Given the description of an element on the screen output the (x, y) to click on. 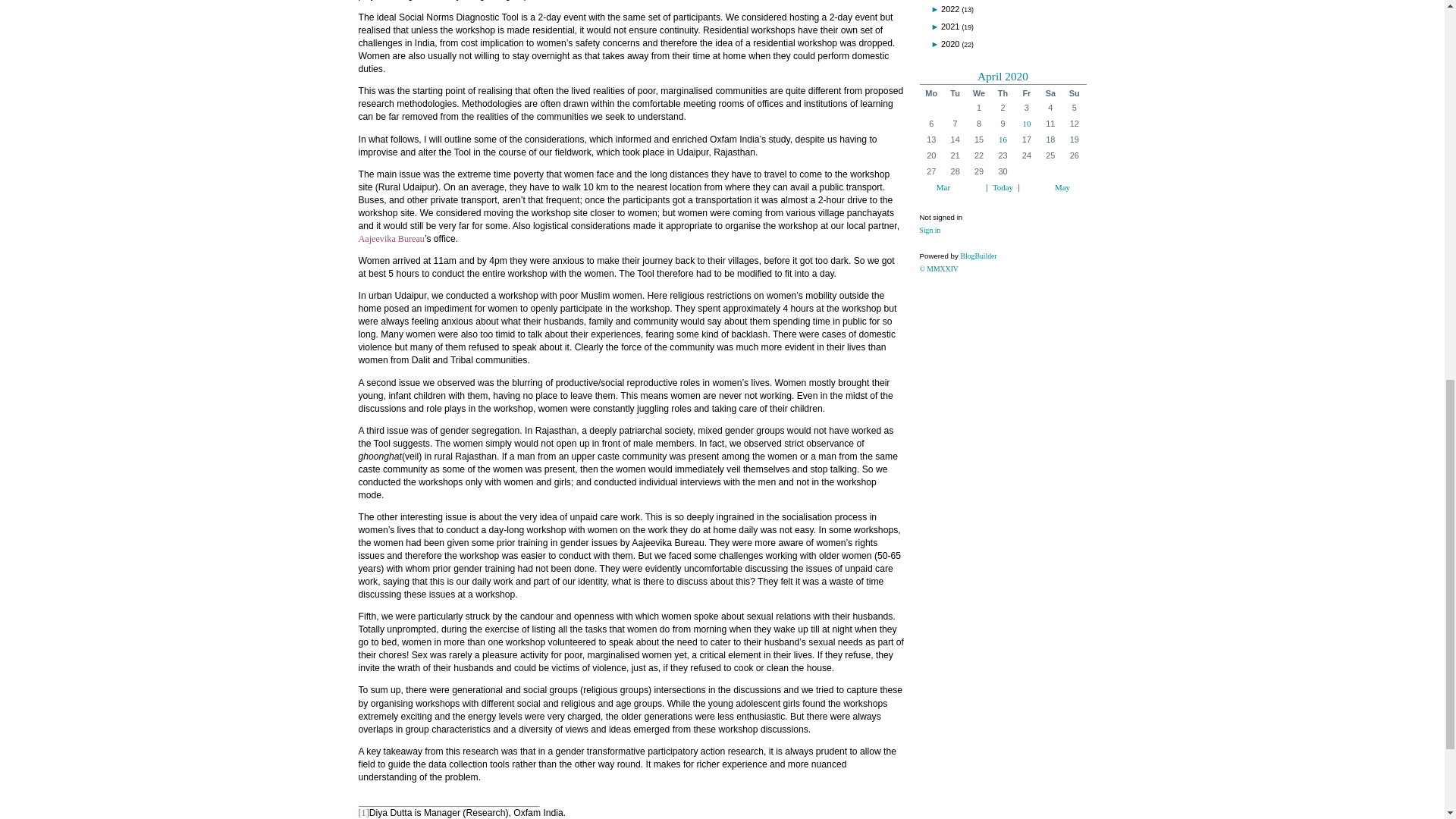
Aajeevika Bureau (390, 238)
